Given the description of an element on the screen output the (x, y) to click on. 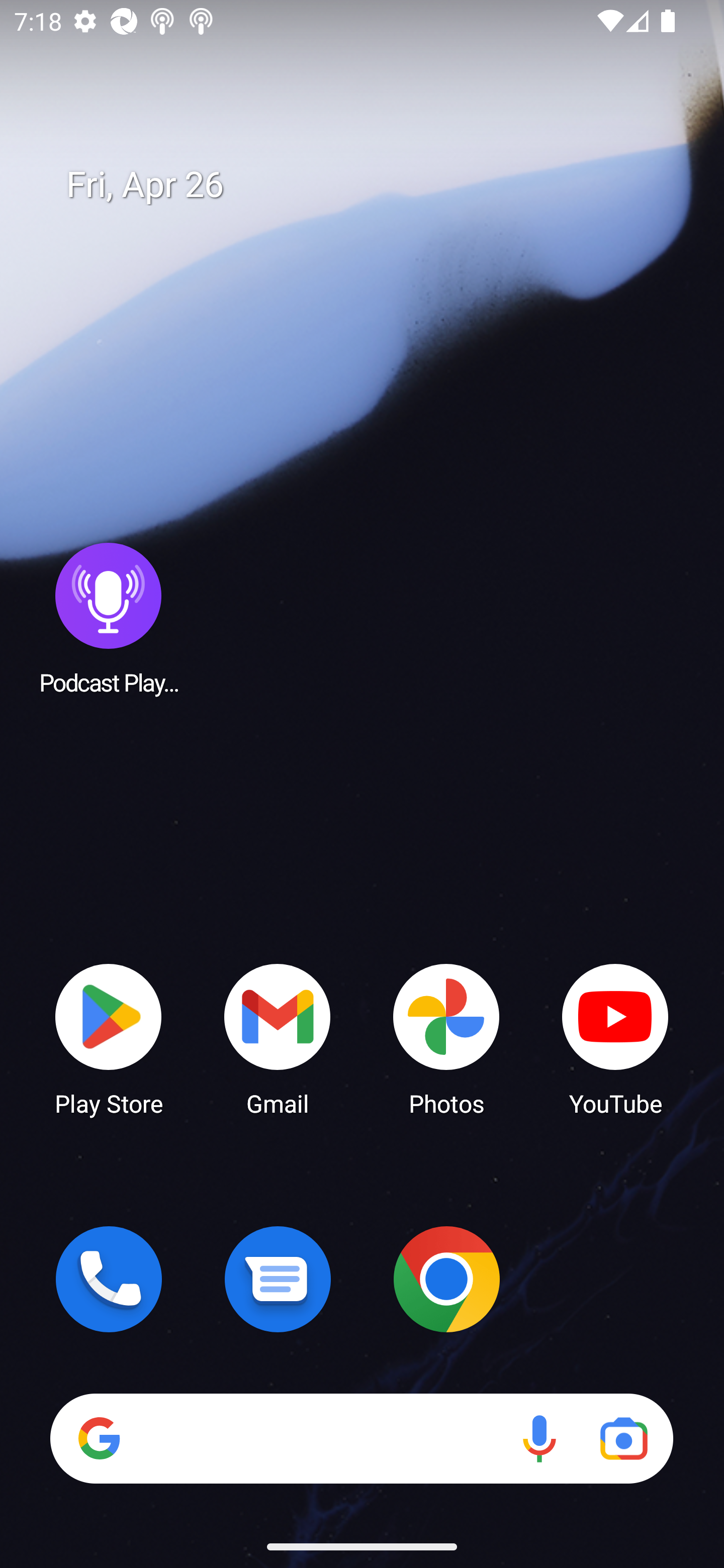
Fri, Apr 26 (375, 184)
Podcast Player (108, 617)
Play Store (108, 1038)
Gmail (277, 1038)
Photos (445, 1038)
YouTube (615, 1038)
Phone (108, 1279)
Messages (277, 1279)
Chrome (446, 1279)
Search Voice search Google Lens (361, 1438)
Voice search (539, 1438)
Google Lens (623, 1438)
